Given the description of an element on the screen output the (x, y) to click on. 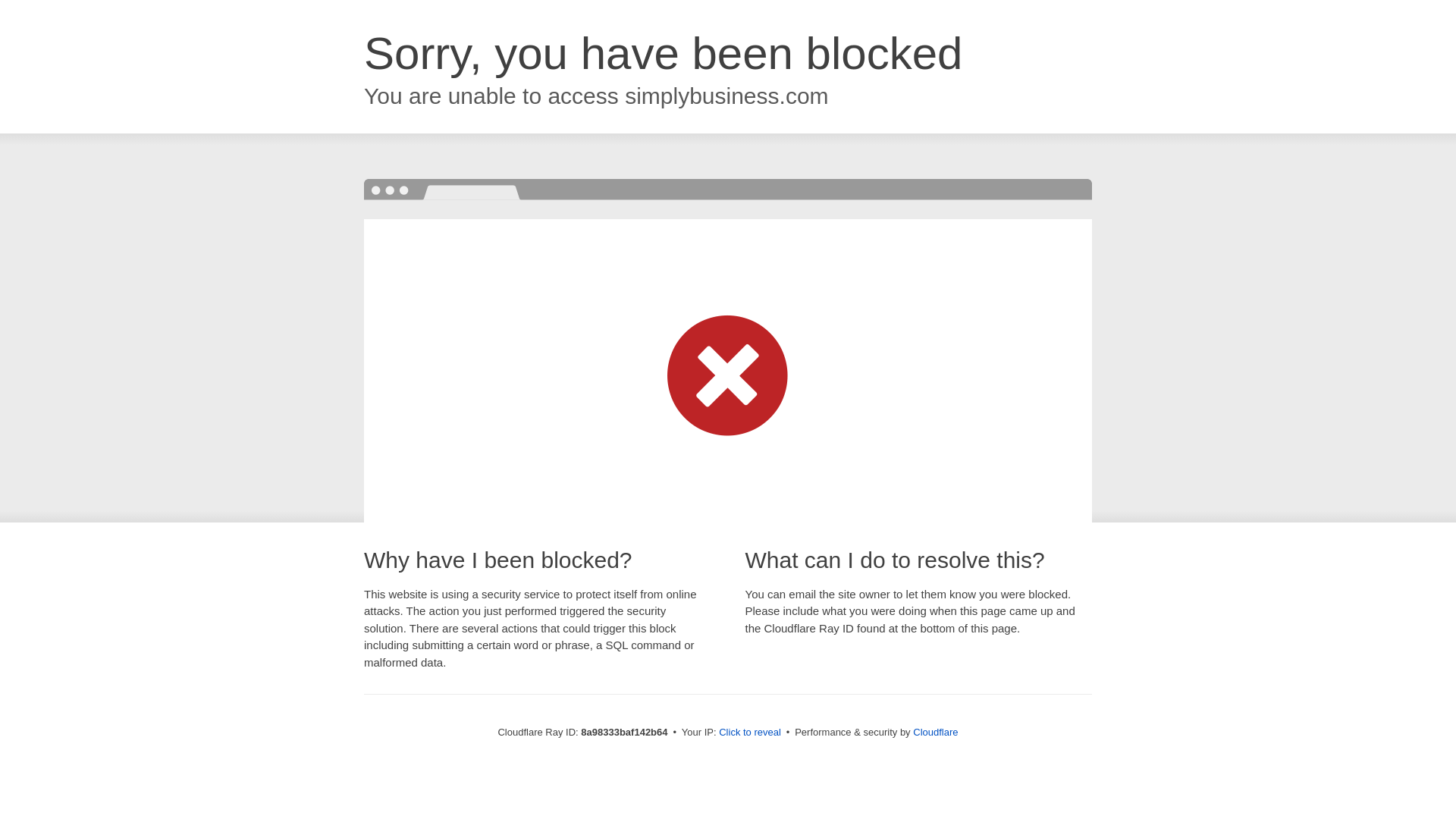
Click to reveal (749, 732)
Cloudflare (935, 731)
